Given the description of an element on the screen output the (x, y) to click on. 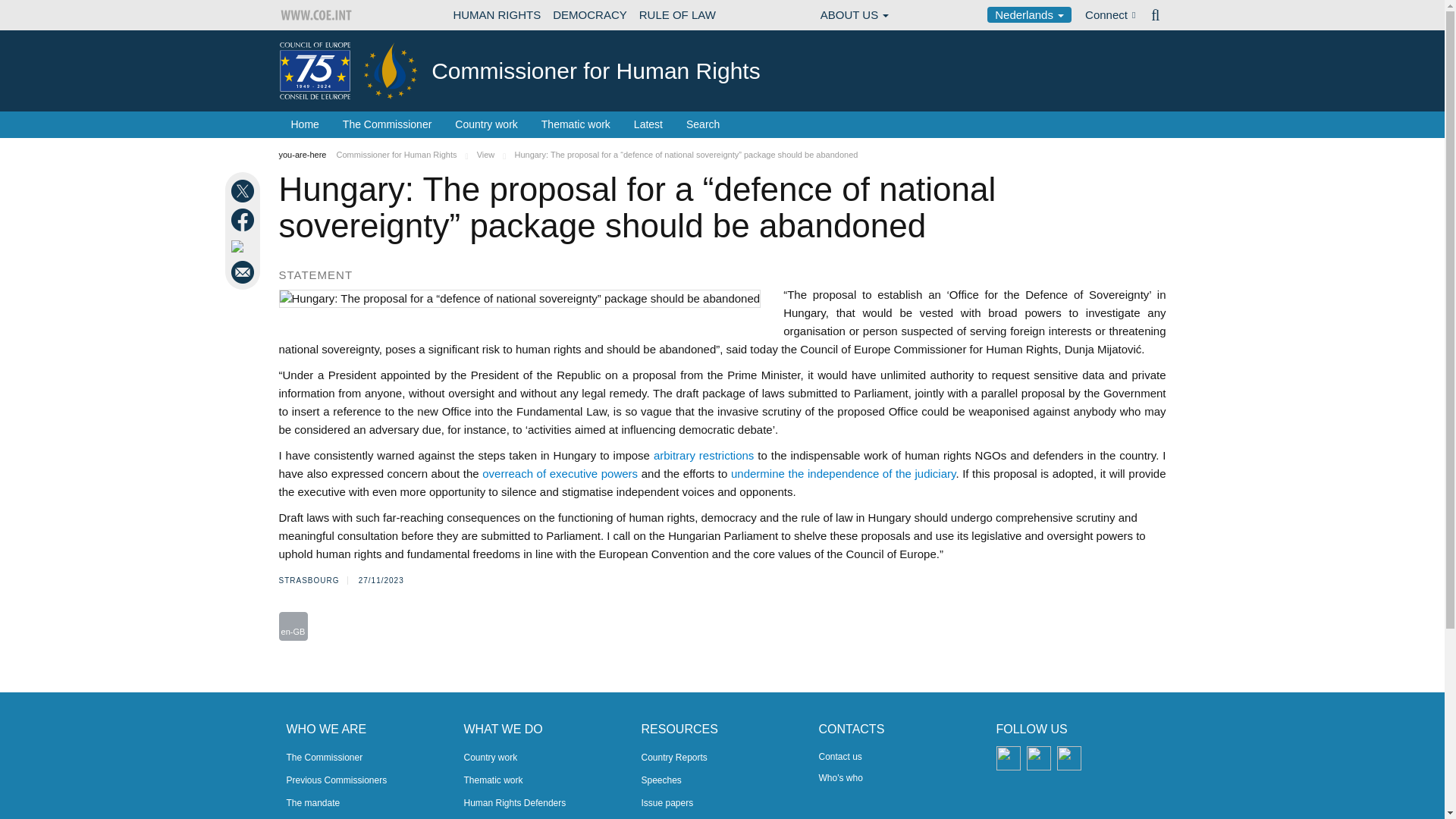
DEMOCRACY (590, 15)
Share on Facebook (244, 219)
RULE OF LAW (677, 15)
Share on Linkedin (244, 245)
HUMAN RIGHTS (496, 15)
ABOUT US (854, 15)
Nederlands (1029, 14)
Send this page (244, 272)
WWW.COE.INT (317, 15)
Acties (293, 625)
